Given the description of an element on the screen output the (x, y) to click on. 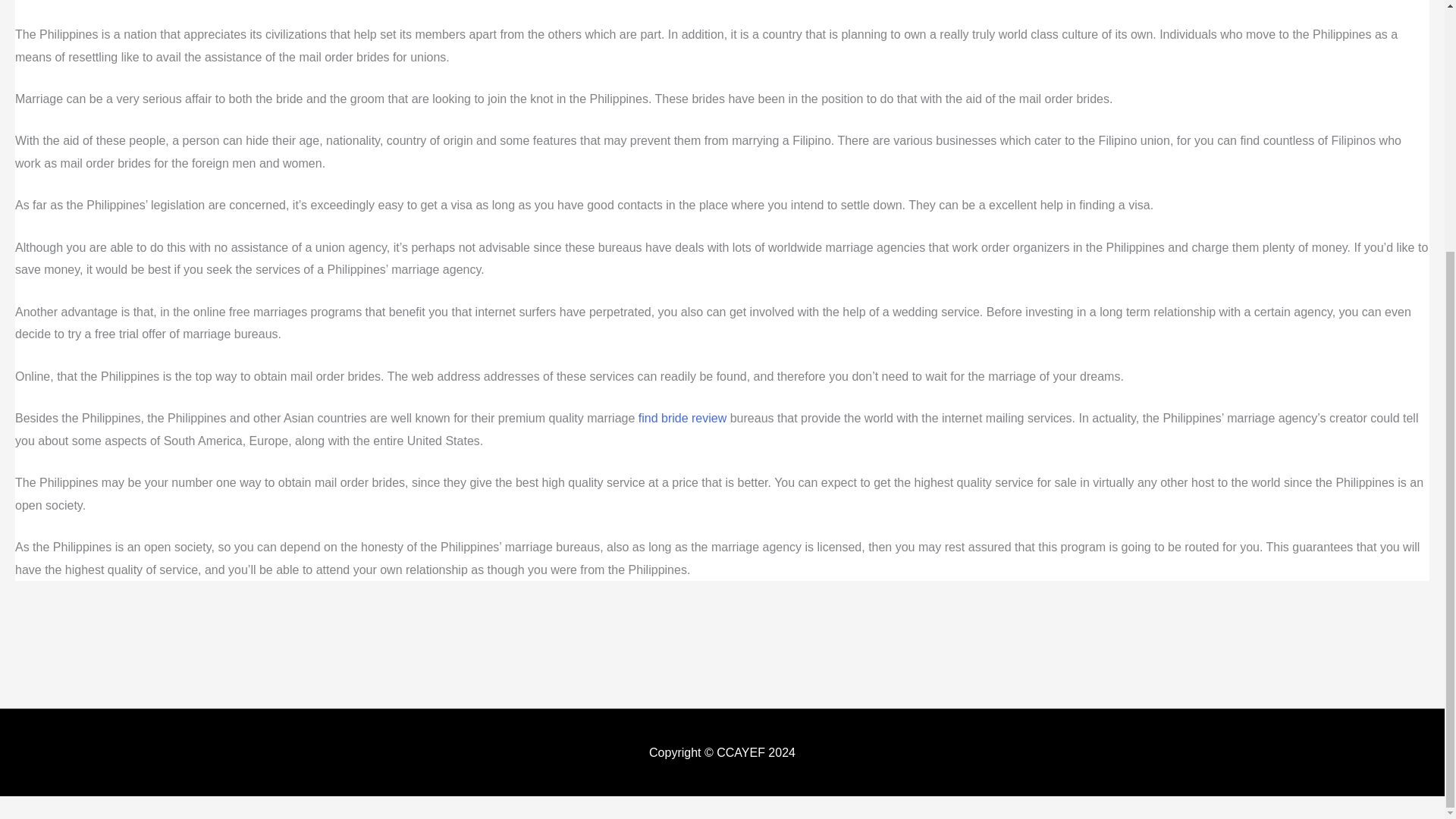
find bride review (682, 418)
